Given the description of an element on the screen output the (x, y) to click on. 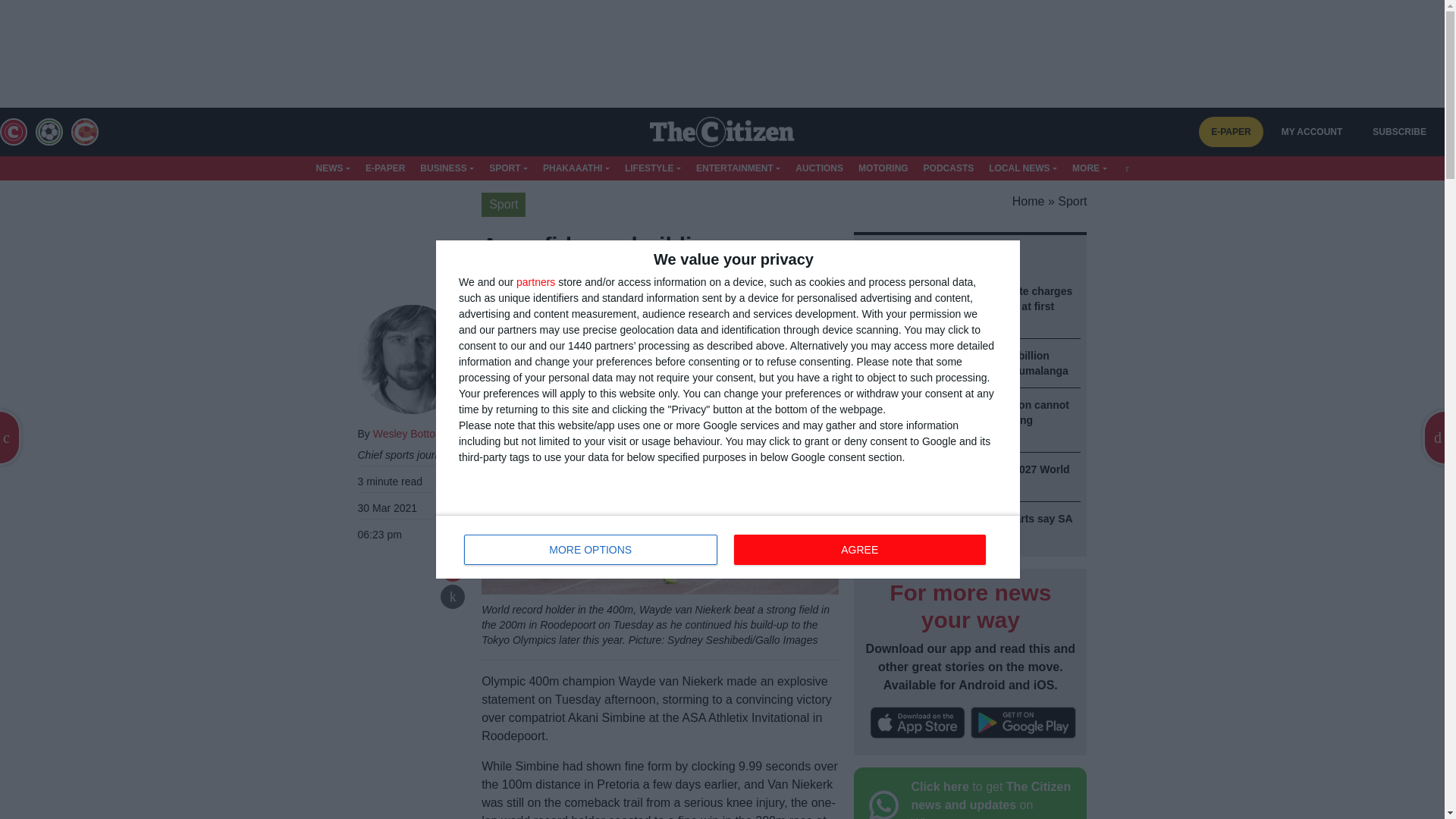
partners (535, 281)
AGREE (859, 549)
MORE OPTIONS (727, 546)
